Given the description of an element on the screen output the (x, y) to click on. 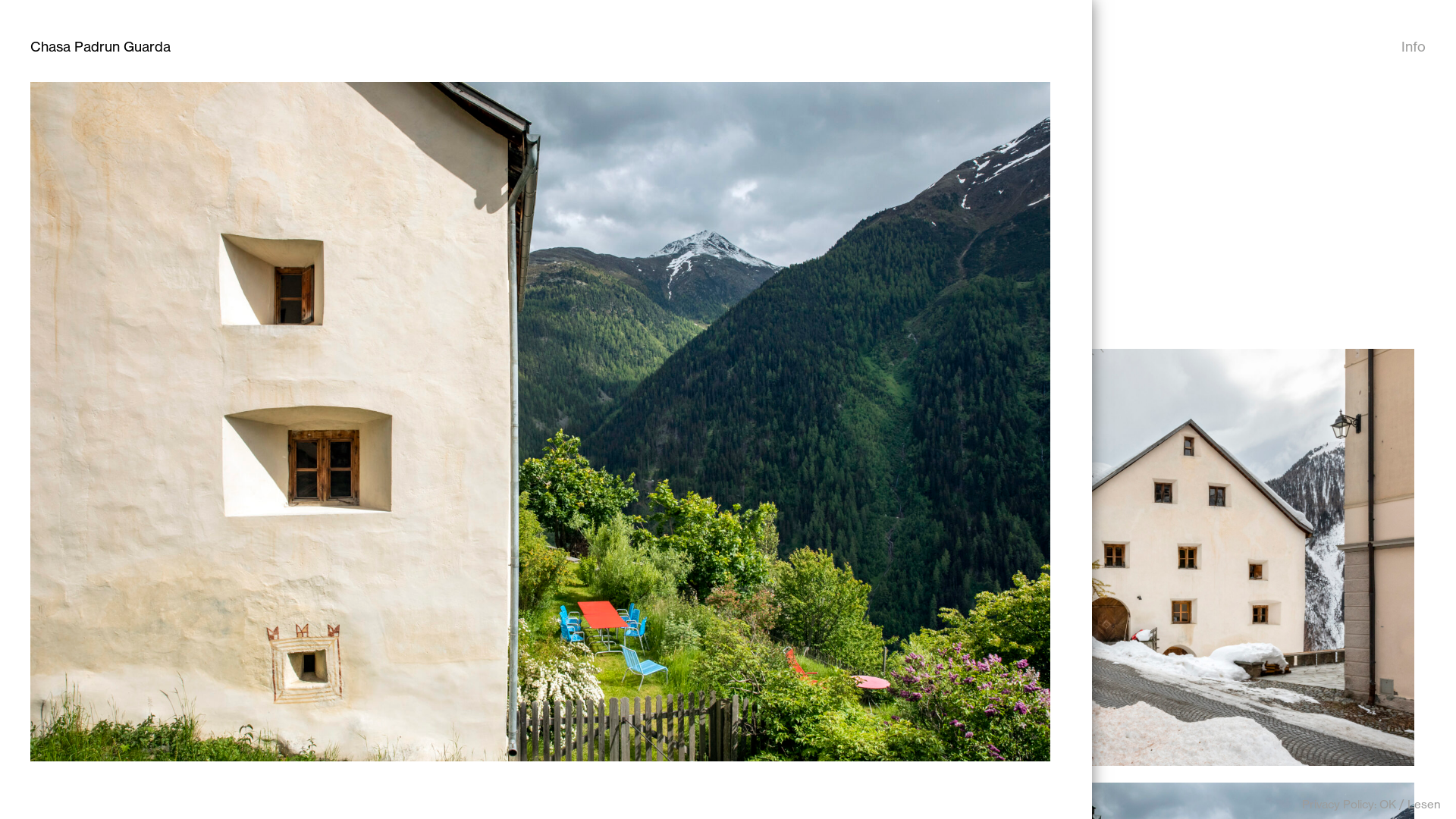
Lesen Element type: text (1423, 804)
OK Element type: text (1387, 804)
